Given the description of an element on the screen output the (x, y) to click on. 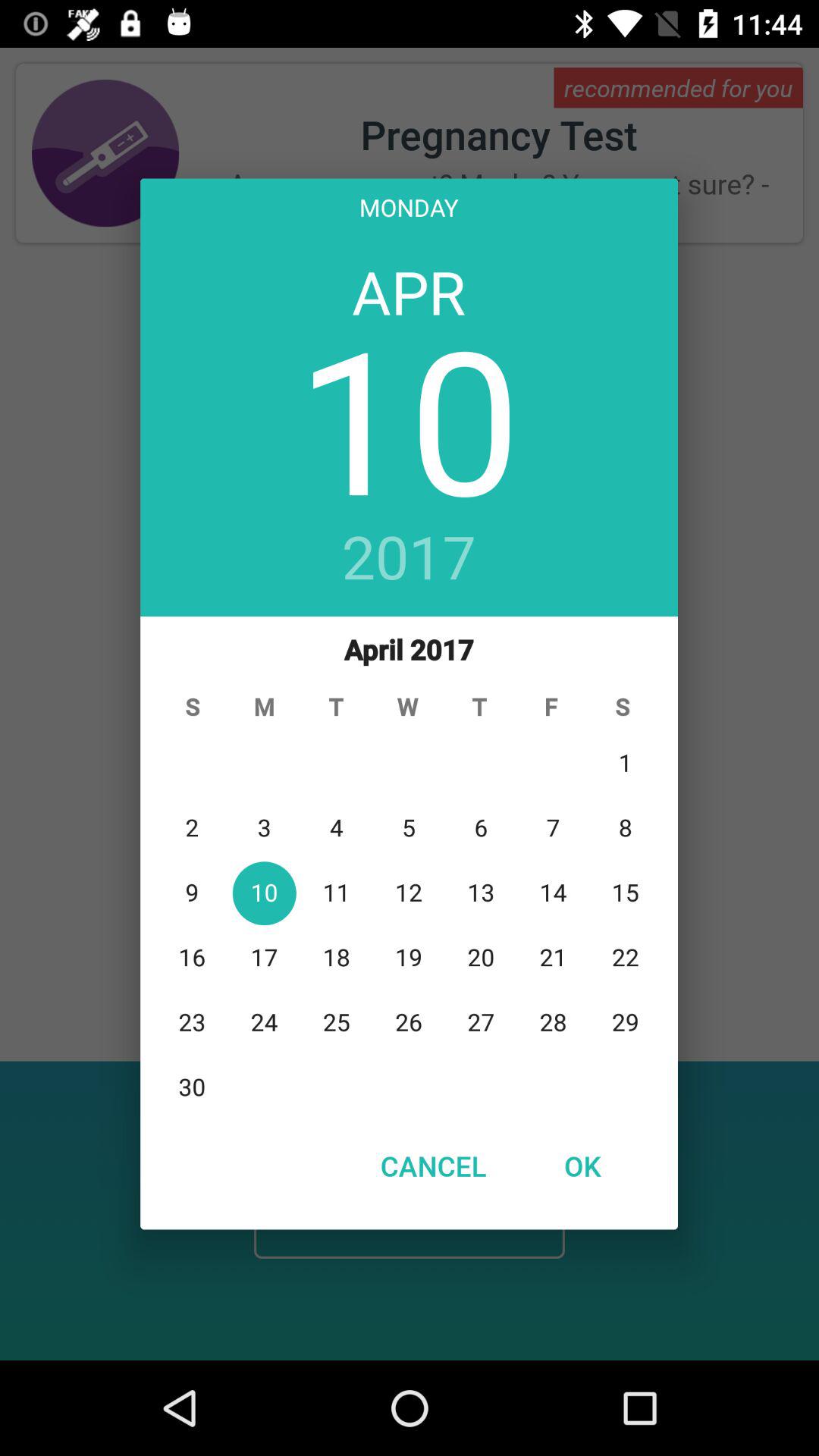
launch icon above the cancel item (409, 867)
